Given the description of an element on the screen output the (x, y) to click on. 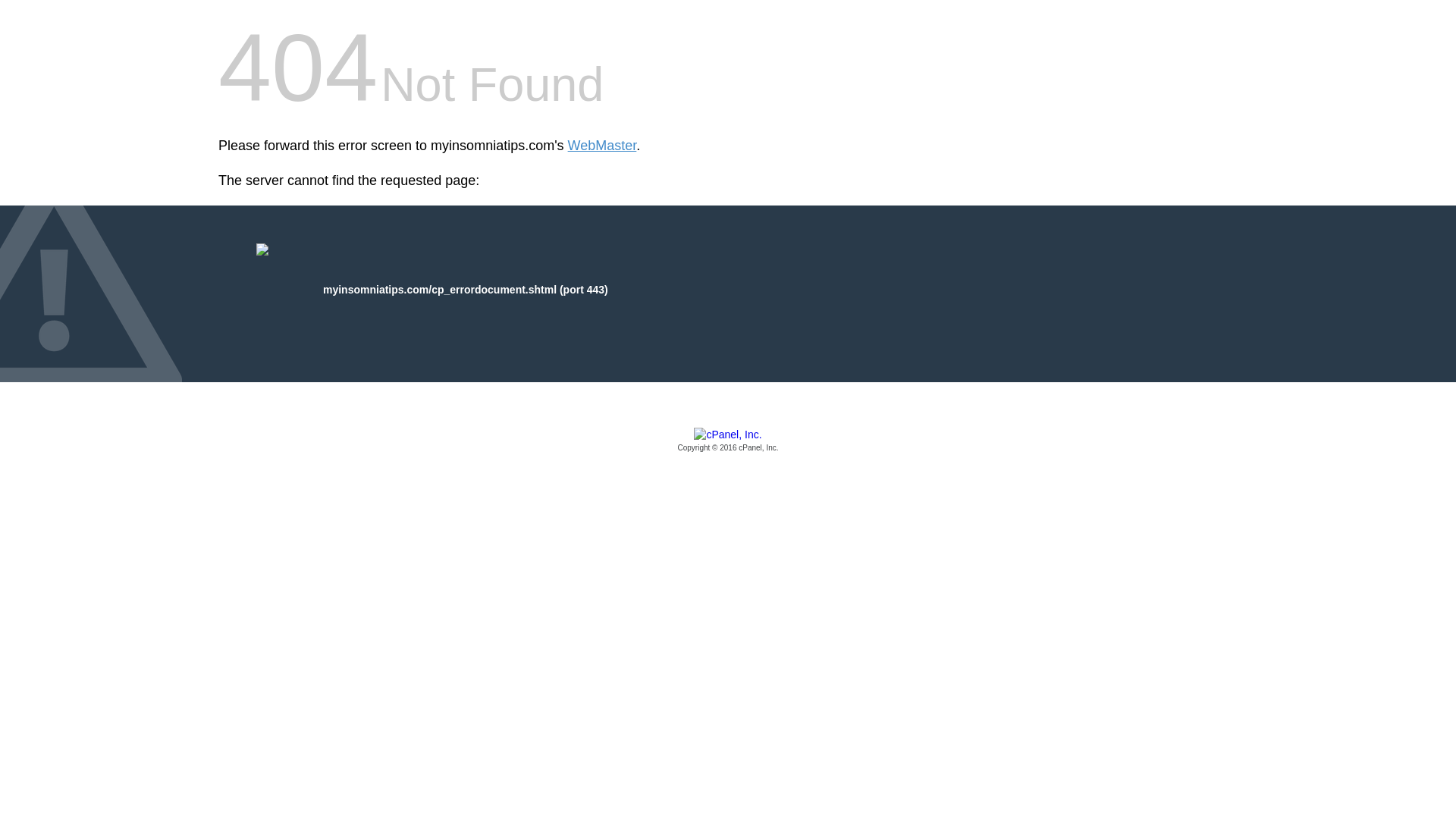
cPanel, Inc. (727, 440)
WebMaster (602, 145)
